Given the description of an element on the screen output the (x, y) to click on. 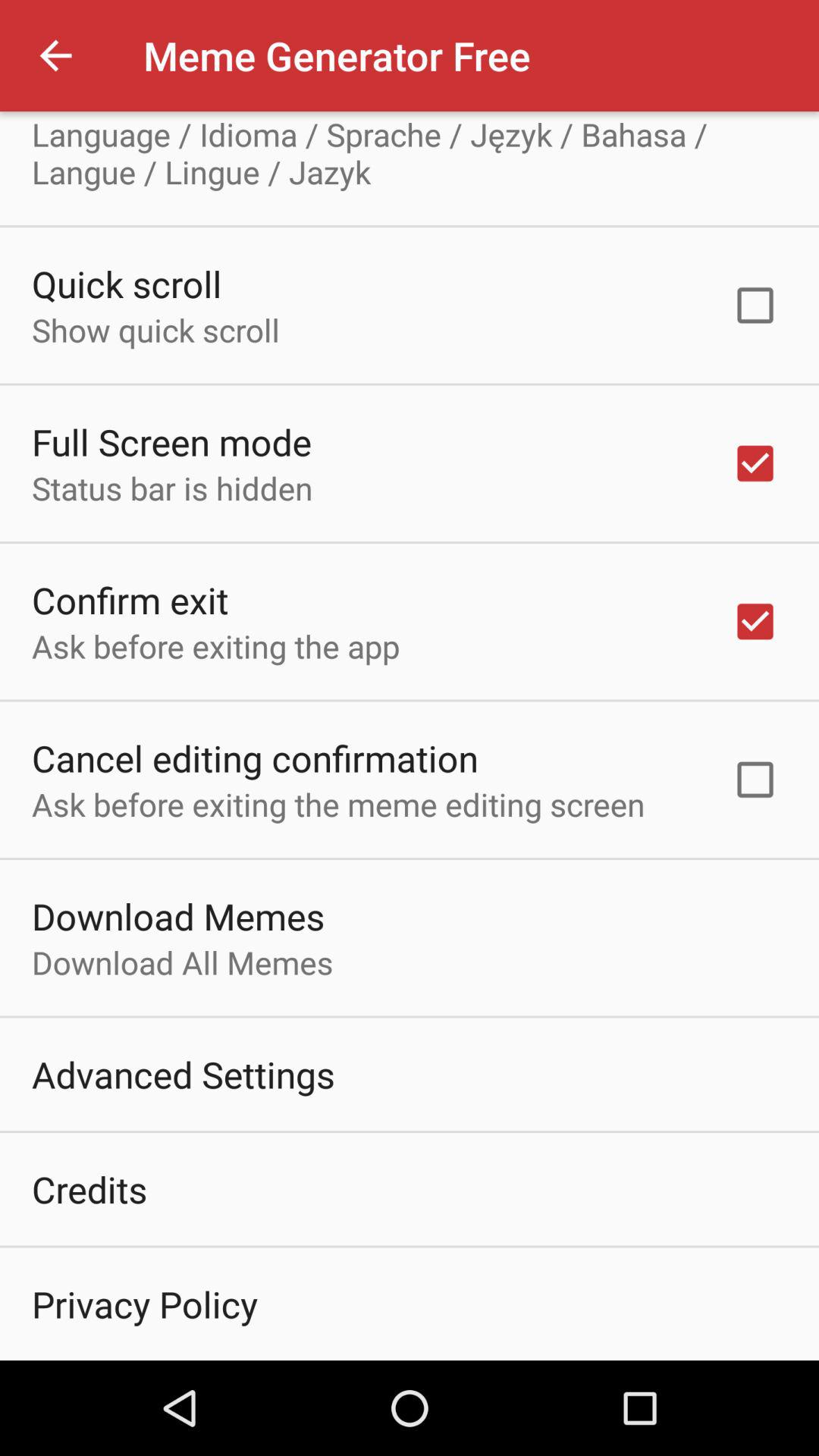
press the item above ask before exiting icon (129, 599)
